Given the description of an element on the screen output the (x, y) to click on. 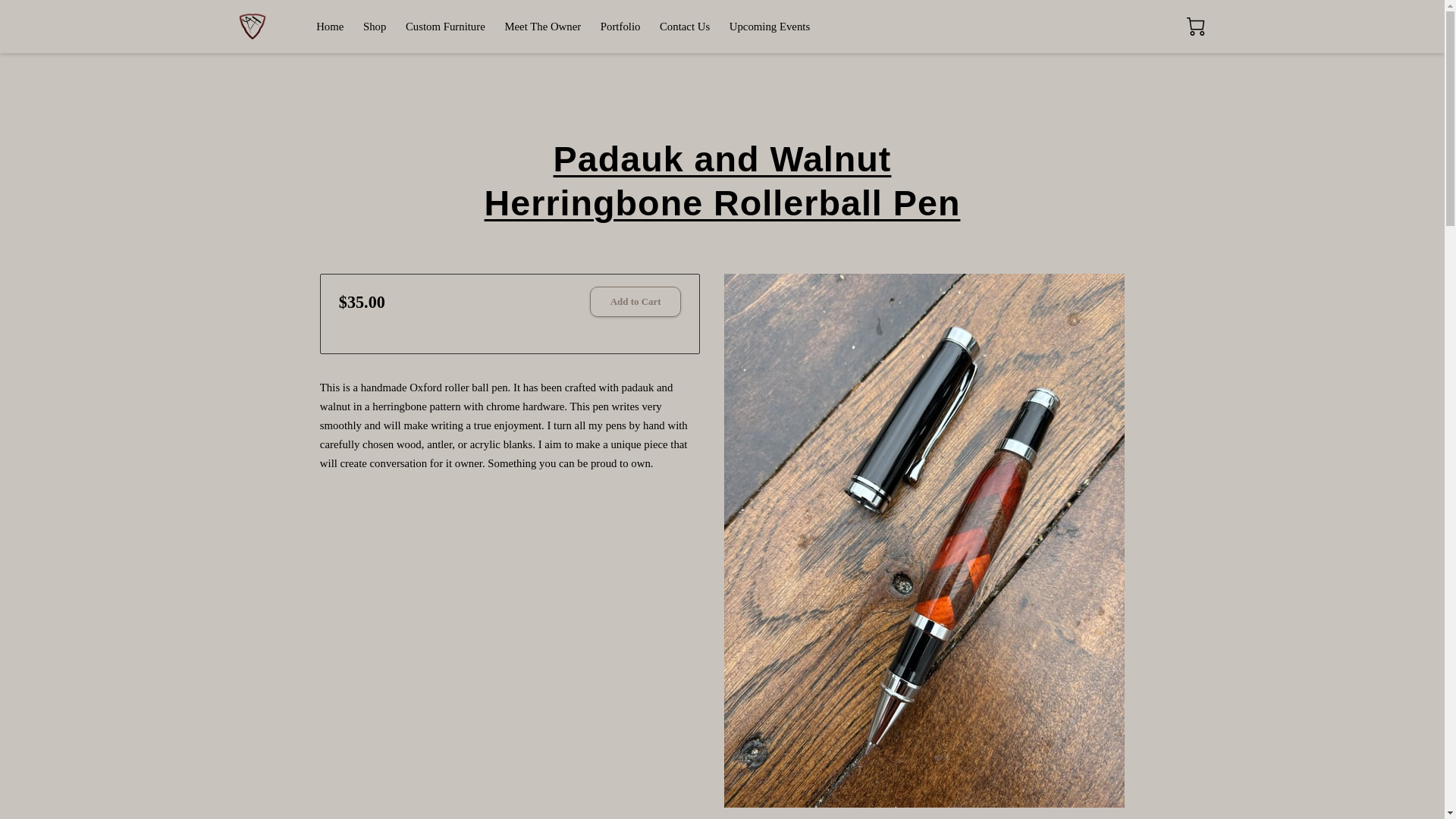
Add to Cart (635, 301)
Meet The Owner (541, 26)
0 (1195, 26)
Custom Furniture (445, 26)
Contact Us (684, 26)
Upcoming Events (769, 26)
